Given the description of an element on the screen output the (x, y) to click on. 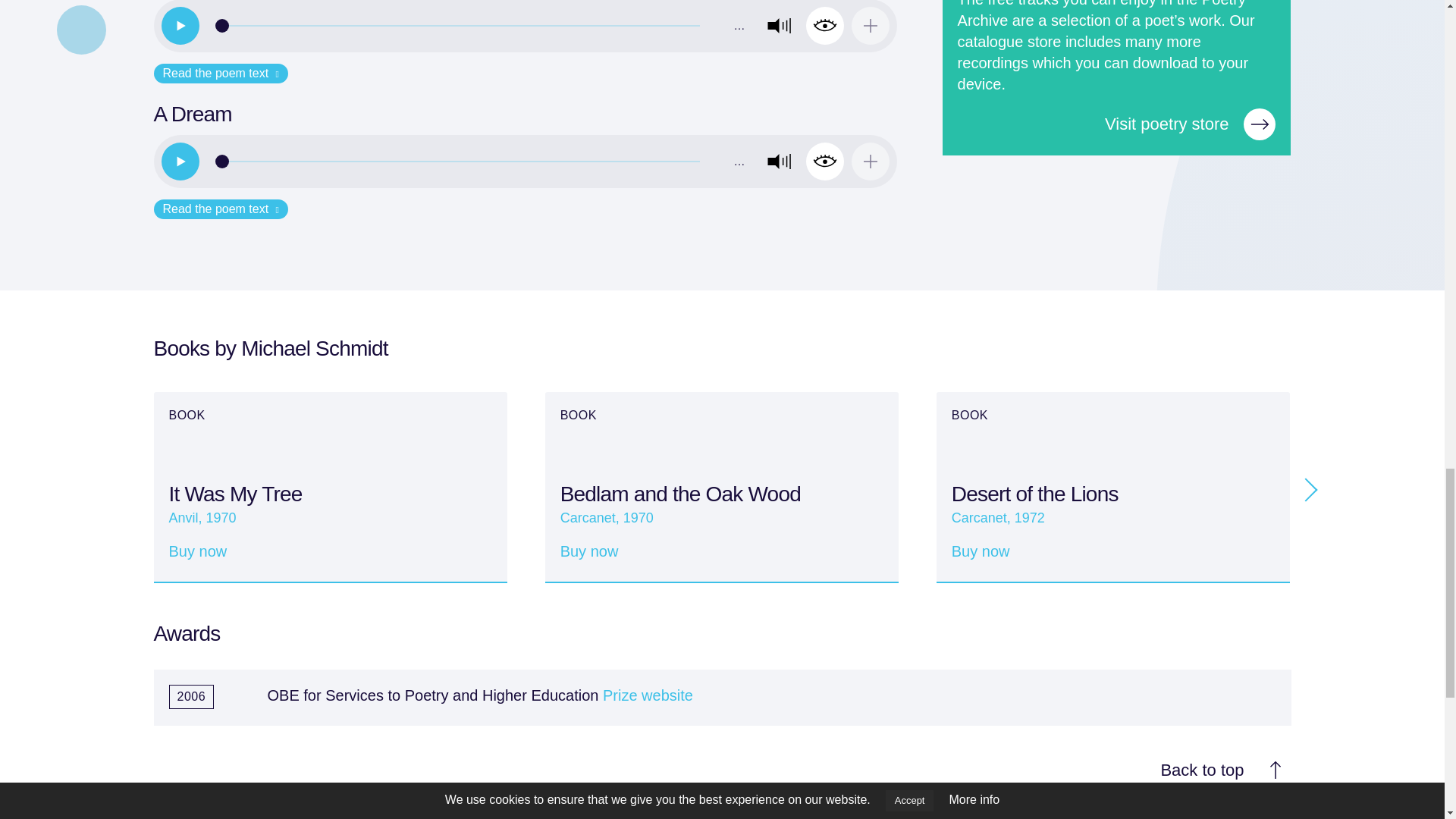
Become a member to add to a collection (870, 25)
Distraction free (825, 161)
Play (179, 25)
Volume Mute (778, 25)
Play (179, 161)
Distraction free (825, 25)
Volume Mute (778, 161)
